Given the description of an element on the screen output the (x, y) to click on. 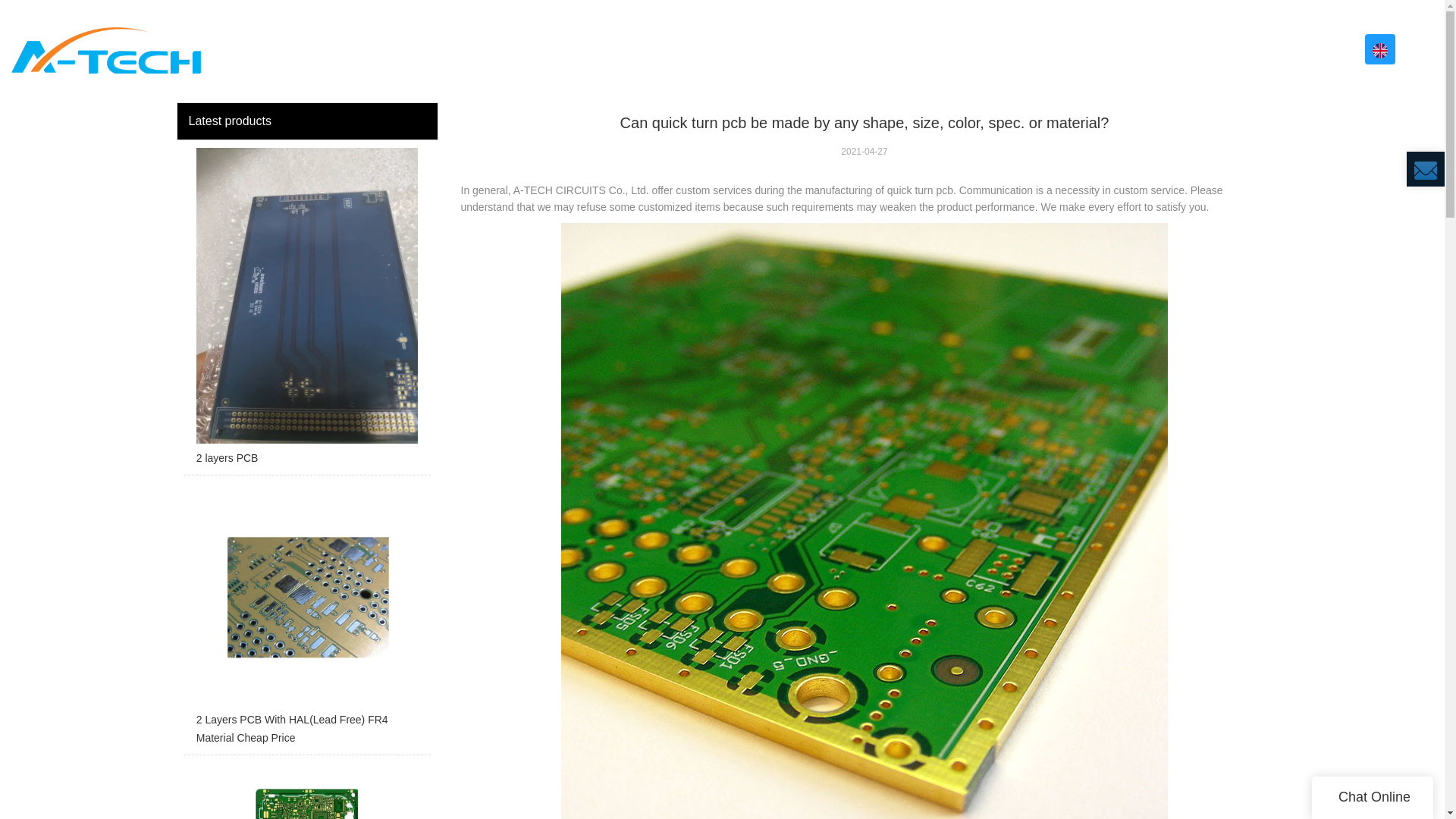
RESOURCES (1239, 49)
CAPABILITY (1140, 49)
CONTACT US (1335, 49)
PCB MANUFACTURING (897, 49)
PCB ASSEMBLY (1032, 49)
ABOUT US (776, 49)
